Given the description of an element on the screen output the (x, y) to click on. 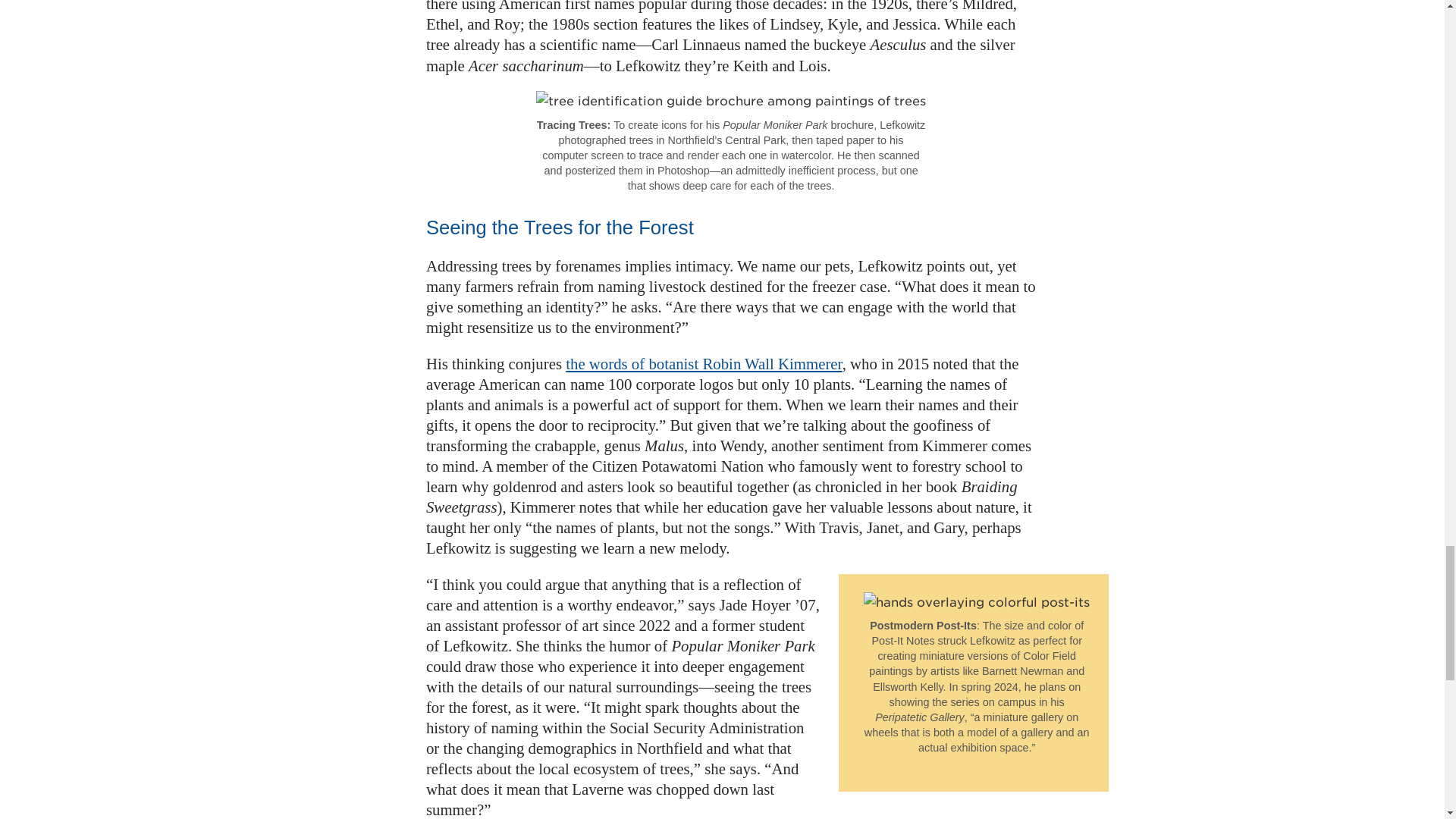
the words of botanist Robin Wall Kimmerer (703, 363)
